Given the description of an element on the screen output the (x, y) to click on. 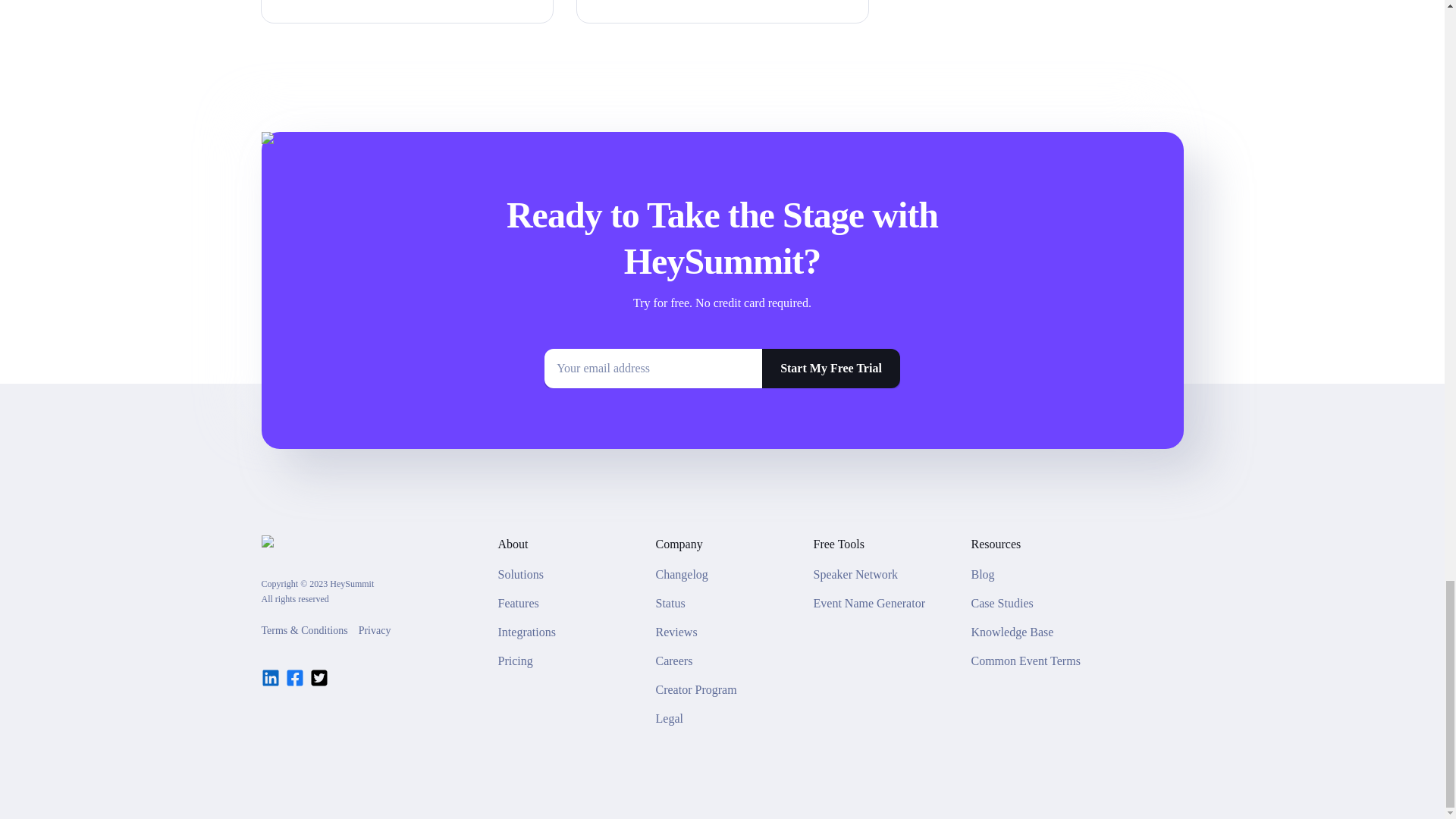
Facebook (293, 678)
Reviews (676, 632)
Blog (982, 574)
Creator Program (695, 689)
Twitter (317, 678)
Privacy (374, 630)
Knowledge Base (1011, 632)
32 Event Sponsorship Ideas to Attract Top Partnerships (405, 11)
Features (517, 603)
